Given the description of an element on the screen output the (x, y) to click on. 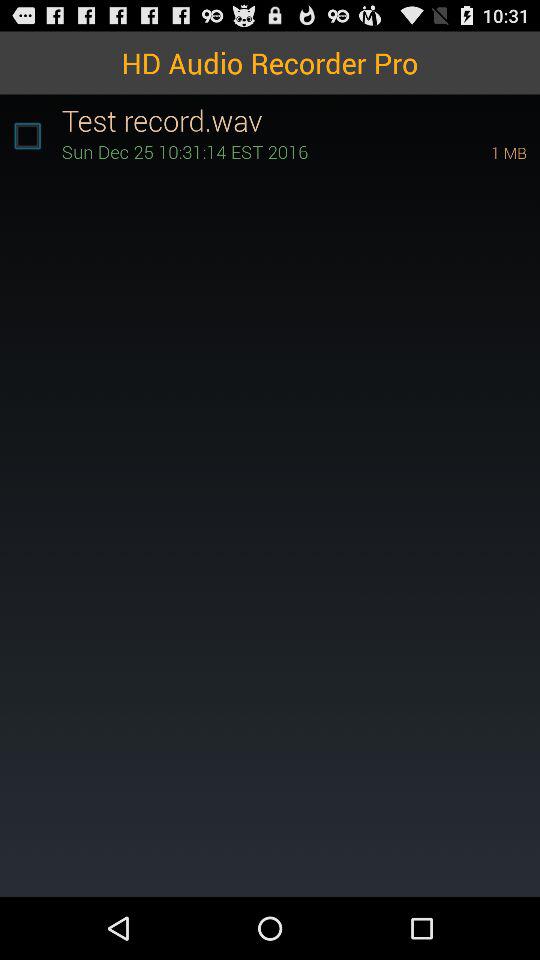
select recording (27, 136)
